Given the description of an element on the screen output the (x, y) to click on. 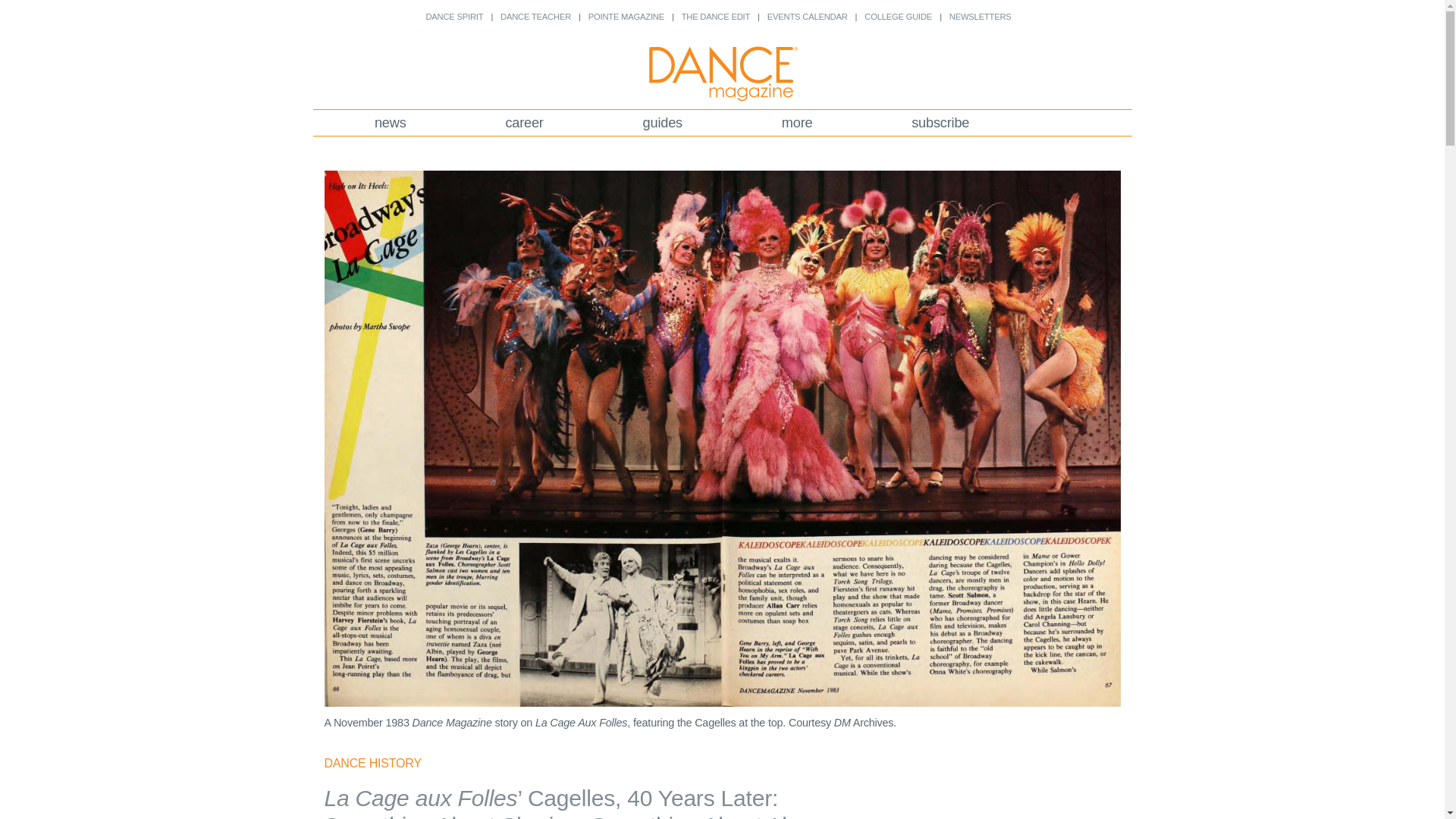
news (390, 122)
subscribe (940, 122)
DANCE TEACHER (535, 16)
more (797, 122)
NEWSLETTERS (980, 16)
THE DANCE EDIT (715, 16)
guides (662, 122)
EVENTS CALENDAR (807, 16)
DANCE SPIRIT (454, 16)
POINTE MAGAZINE (625, 16)
